Given the description of an element on the screen output the (x, y) to click on. 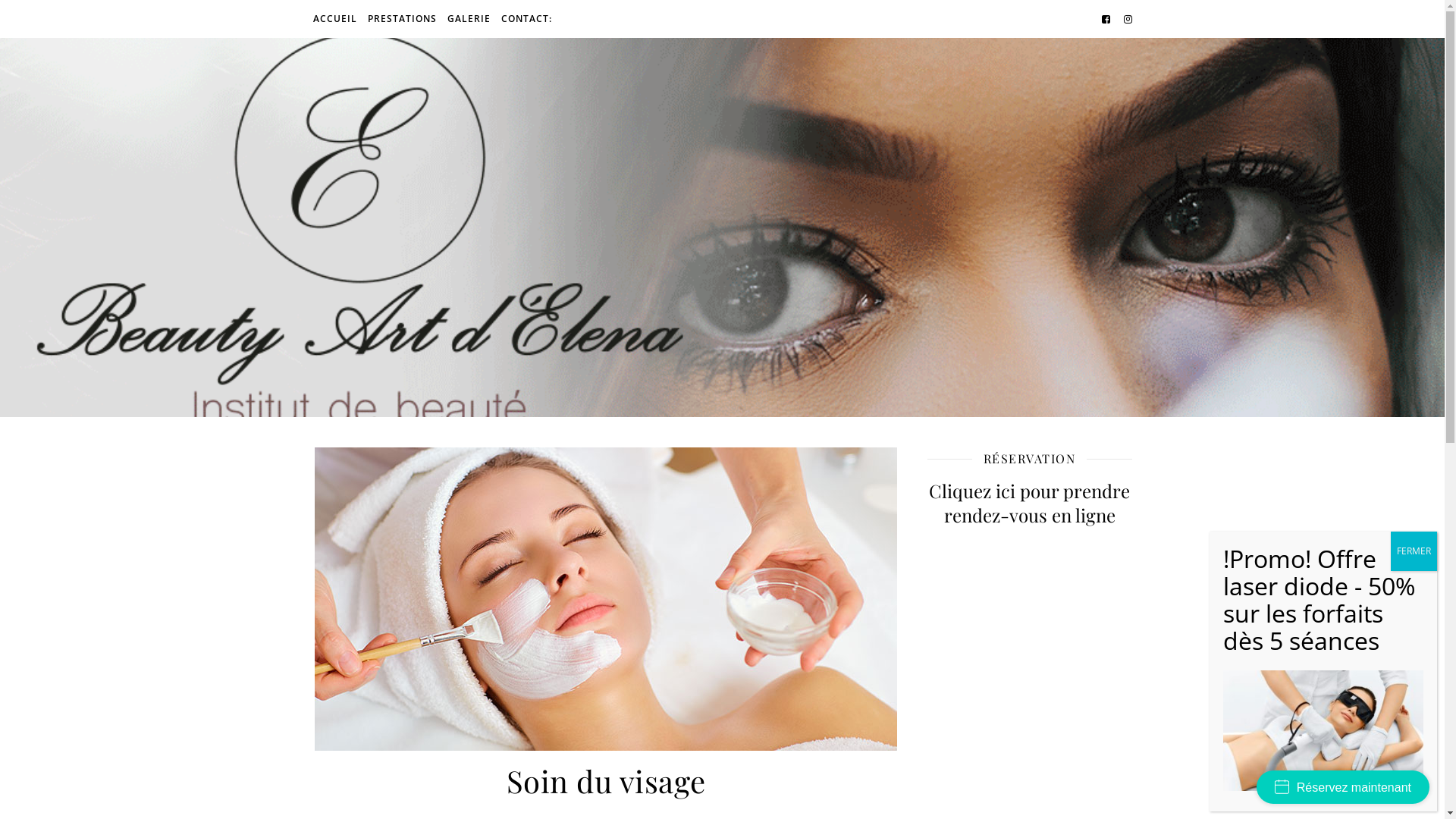
PRESTATIONS Element type: text (402, 18)
CONTACT: Element type: text (524, 18)
ACCUEIL Element type: text (336, 18)
FERMER Element type: text (1413, 551)
Cliquez ici pour prendre rendez-vous en ligne Element type: text (1028, 502)
GALERIE Element type: text (467, 18)
